Given the description of an element on the screen output the (x, y) to click on. 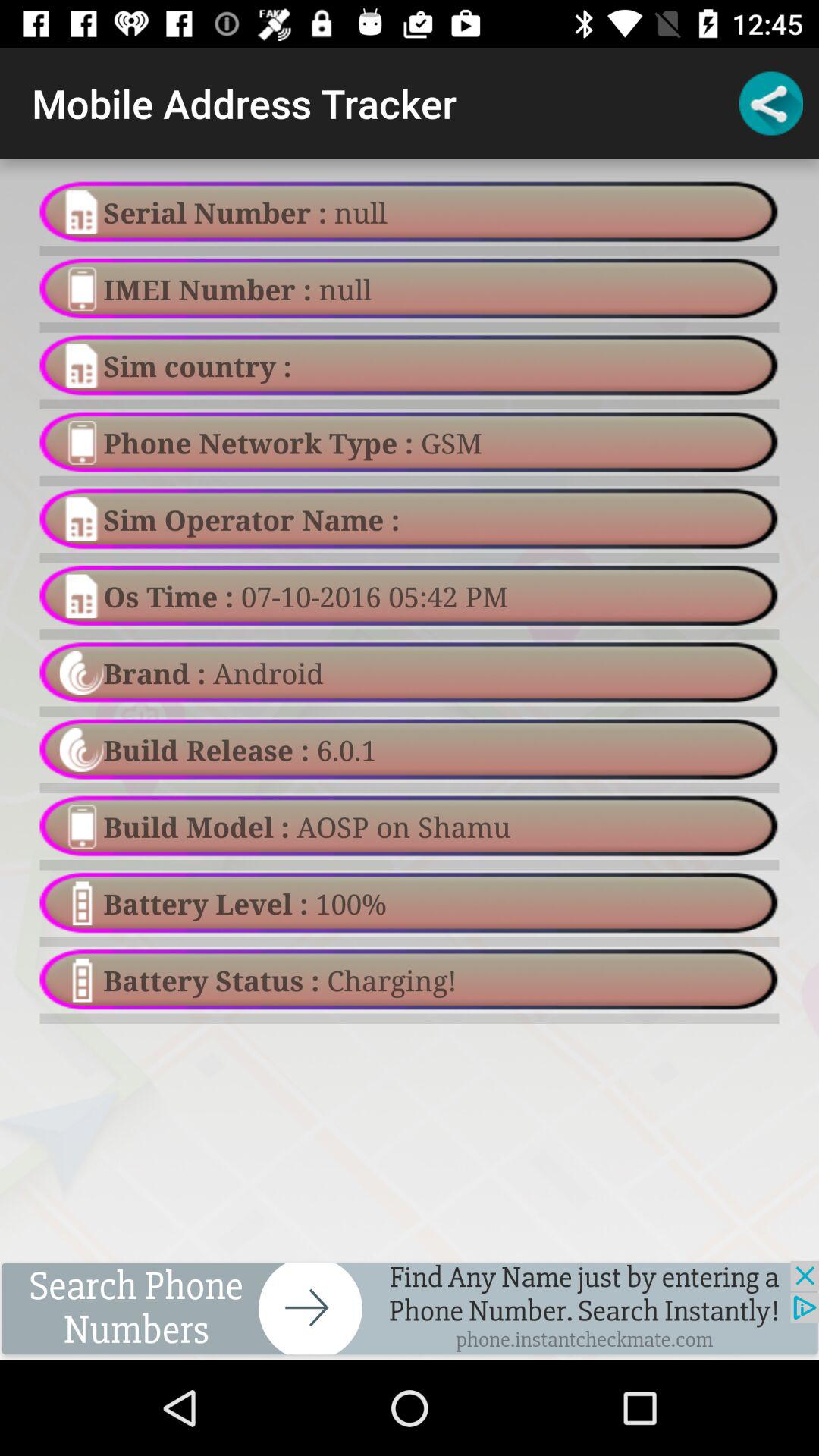
advertisement for phone numbers (409, 1310)
